Given the description of an element on the screen output the (x, y) to click on. 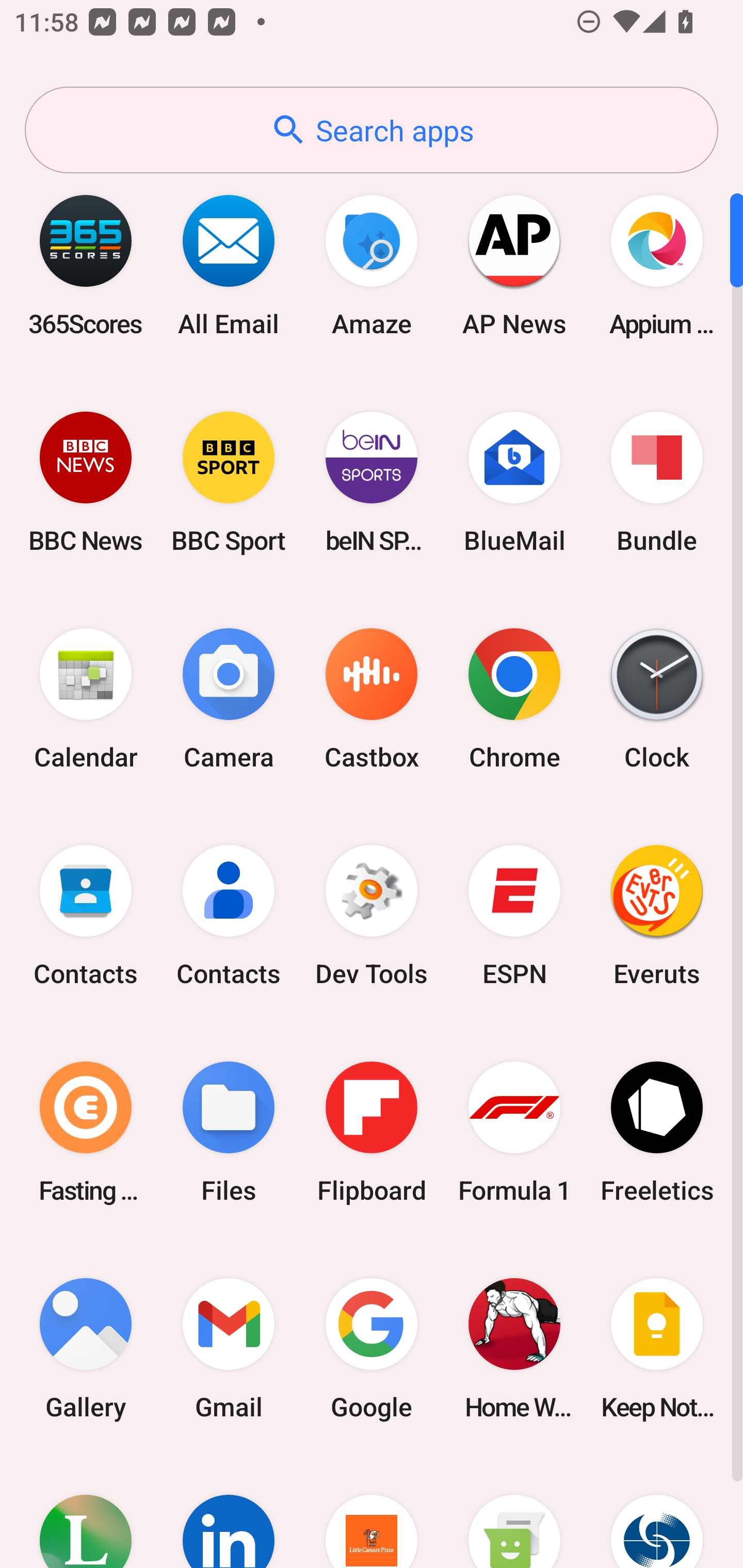
  Search apps (371, 130)
365Scores (85, 264)
All Email (228, 264)
Amaze (371, 264)
AP News (514, 264)
Appium Settings (656, 264)
BBC News (85, 482)
BBC Sport (228, 482)
beIN SPORTS (371, 482)
BlueMail (514, 482)
Bundle (656, 482)
Calendar (85, 699)
Camera (228, 699)
Castbox (371, 699)
Chrome (514, 699)
Clock (656, 699)
Contacts (85, 915)
Contacts (228, 915)
Dev Tools (371, 915)
ESPN (514, 915)
Everuts (656, 915)
Fasting Coach (85, 1131)
Files (228, 1131)
Flipboard (371, 1131)
Formula 1 (514, 1131)
Freeletics (656, 1131)
Gallery (85, 1348)
Gmail (228, 1348)
Google (371, 1348)
Home Workout (514, 1348)
Keep Notes (656, 1348)
